Given the description of an element on the screen output the (x, y) to click on. 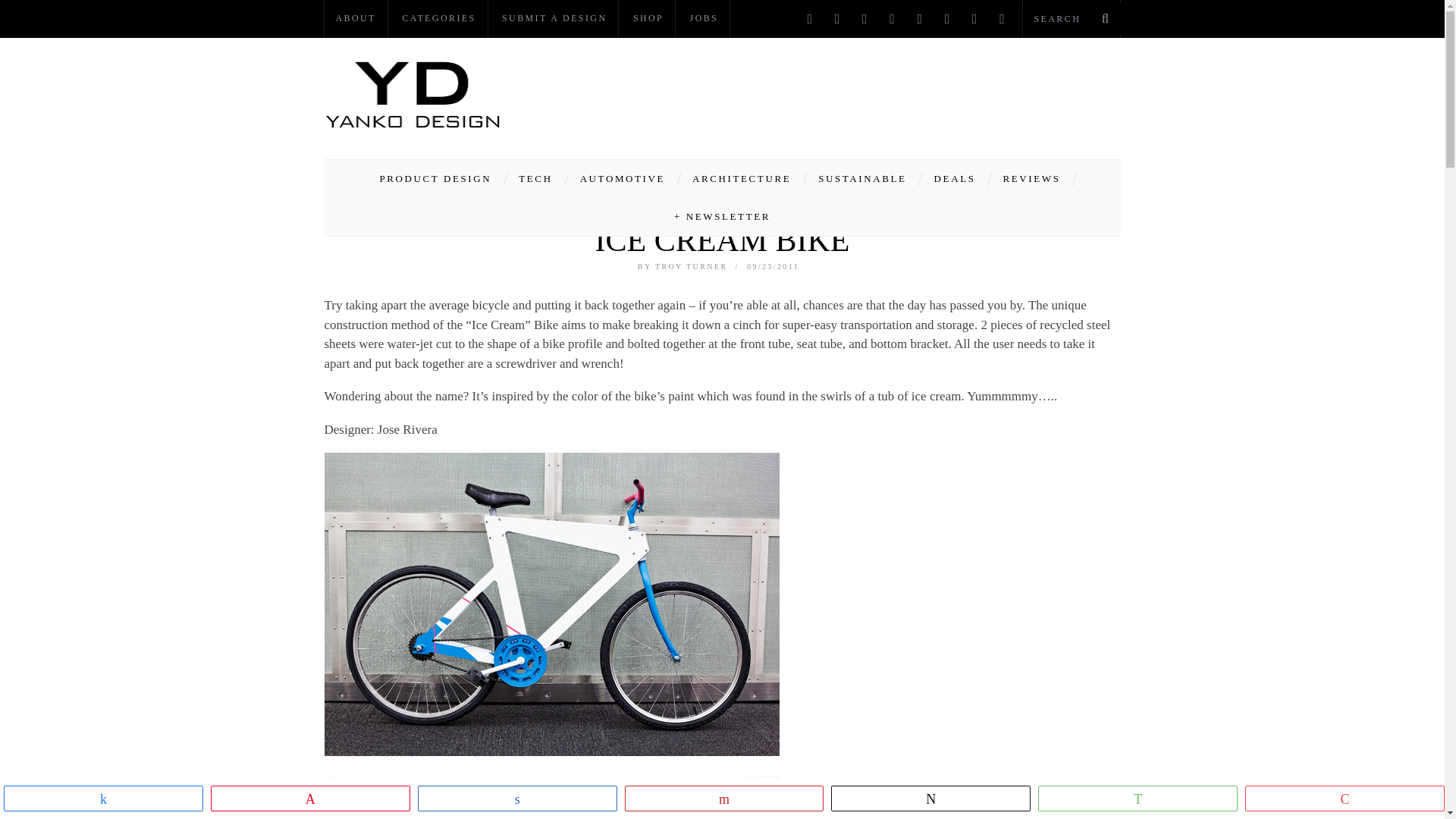
Advertisement (845, 94)
Search (1071, 18)
